Given the description of an element on the screen output the (x, y) to click on. 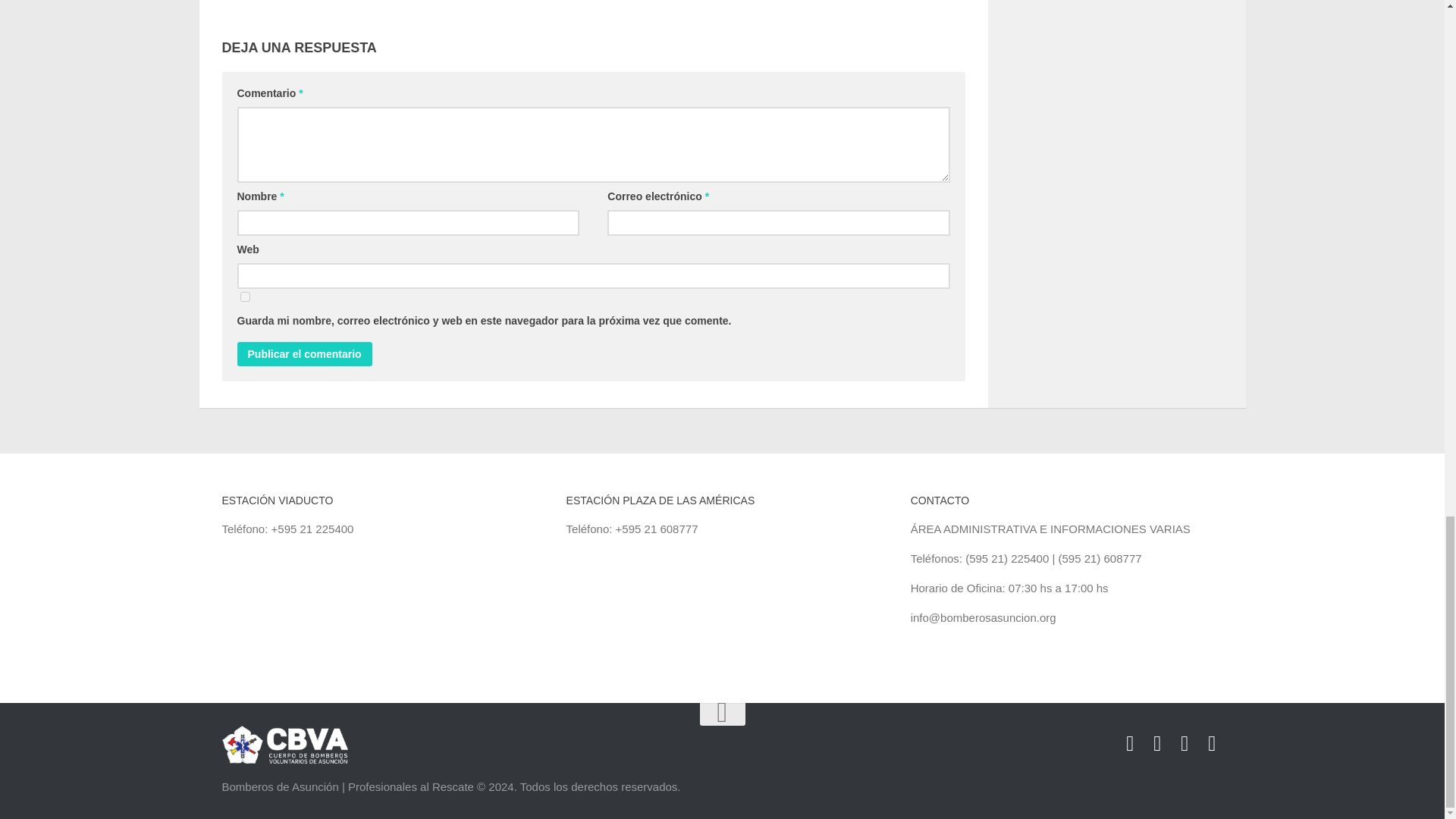
Publicar el comentario (303, 354)
yes (244, 296)
